Given the description of an element on the screen output the (x, y) to click on. 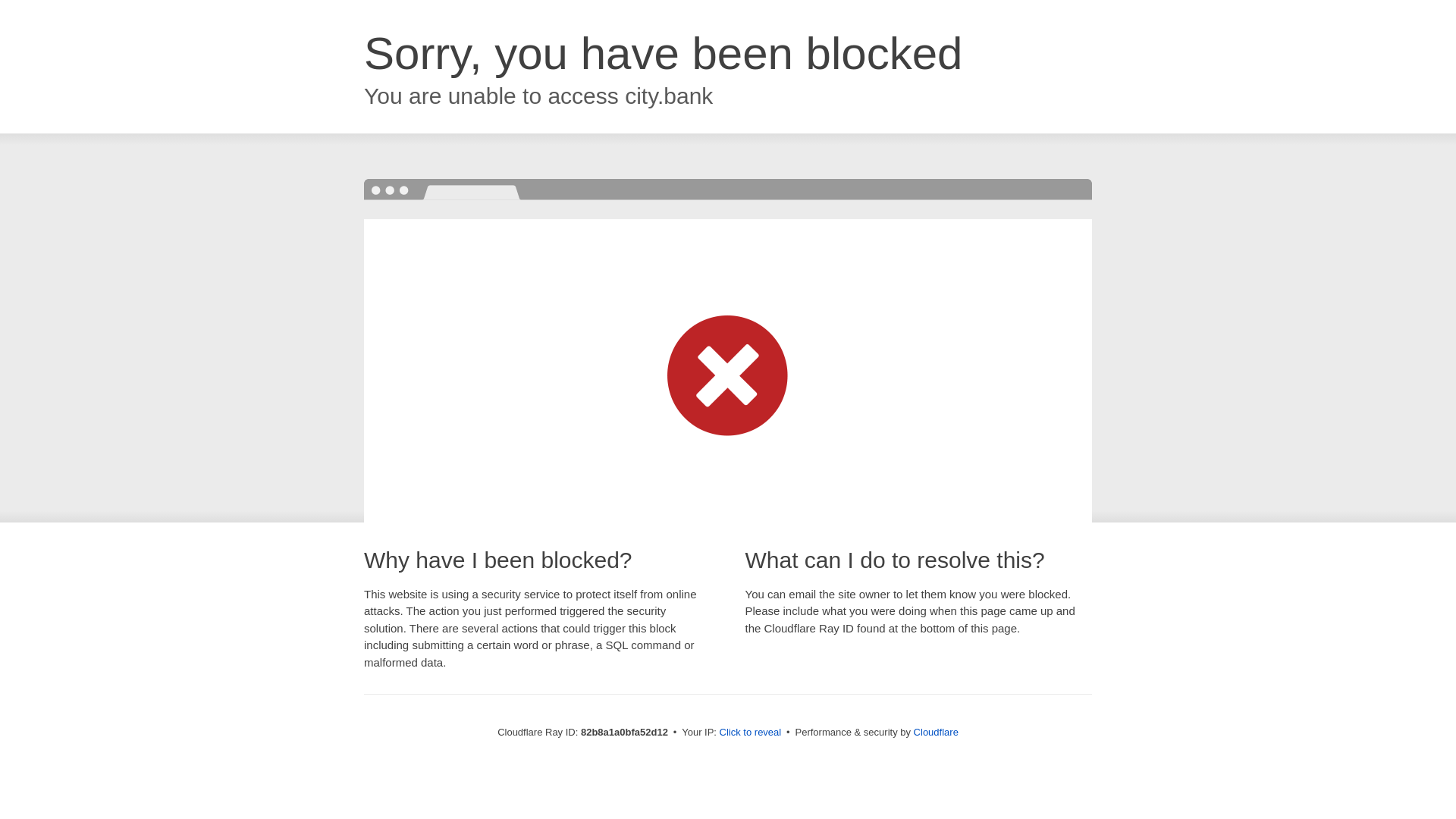
Click to reveal Element type: text (750, 732)
Cloudflare Element type: text (935, 731)
